Given the description of an element on the screen output the (x, y) to click on. 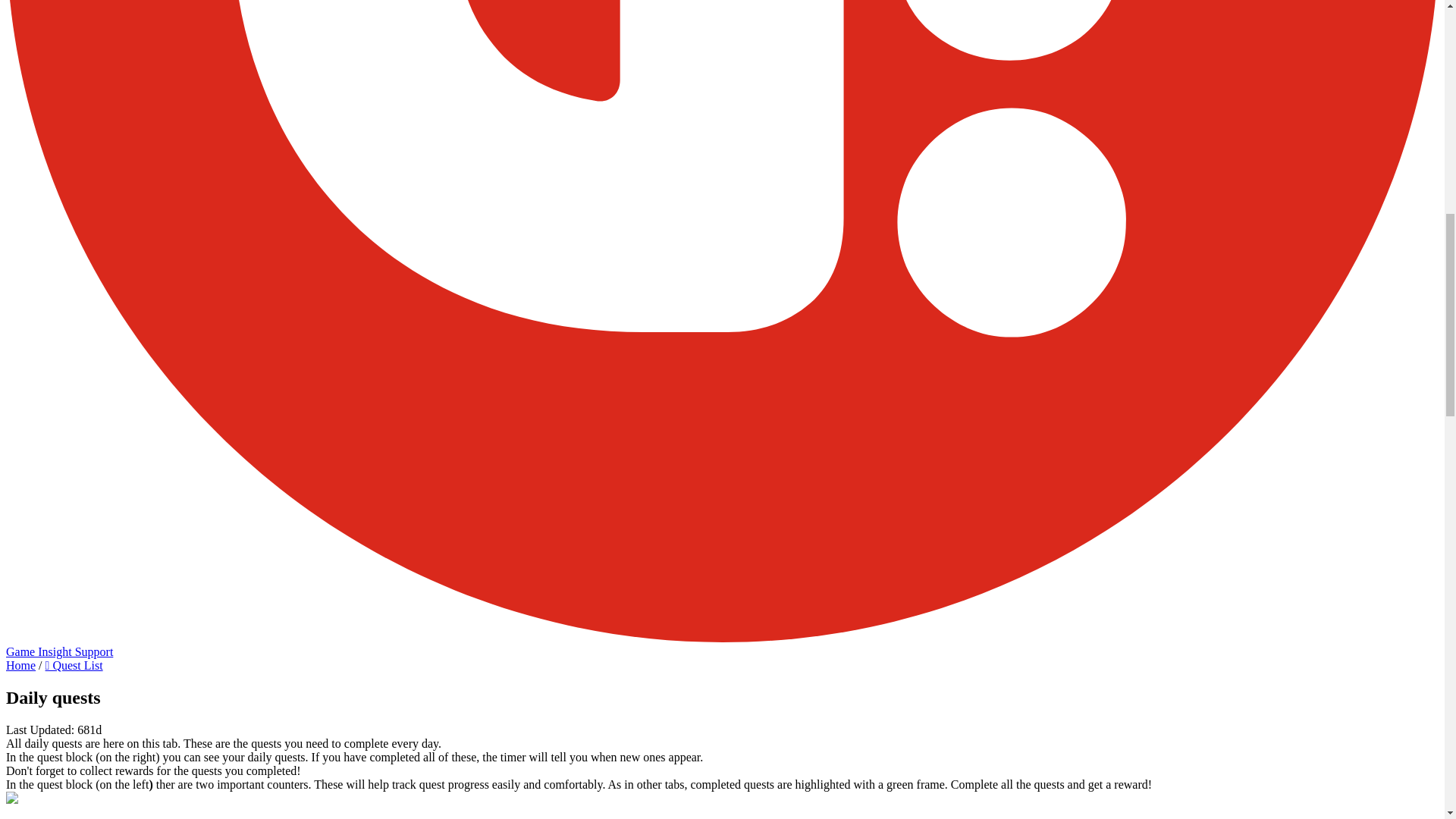
Home (19, 665)
Game Insight Support (59, 651)
